Given the description of an element on the screen output the (x, y) to click on. 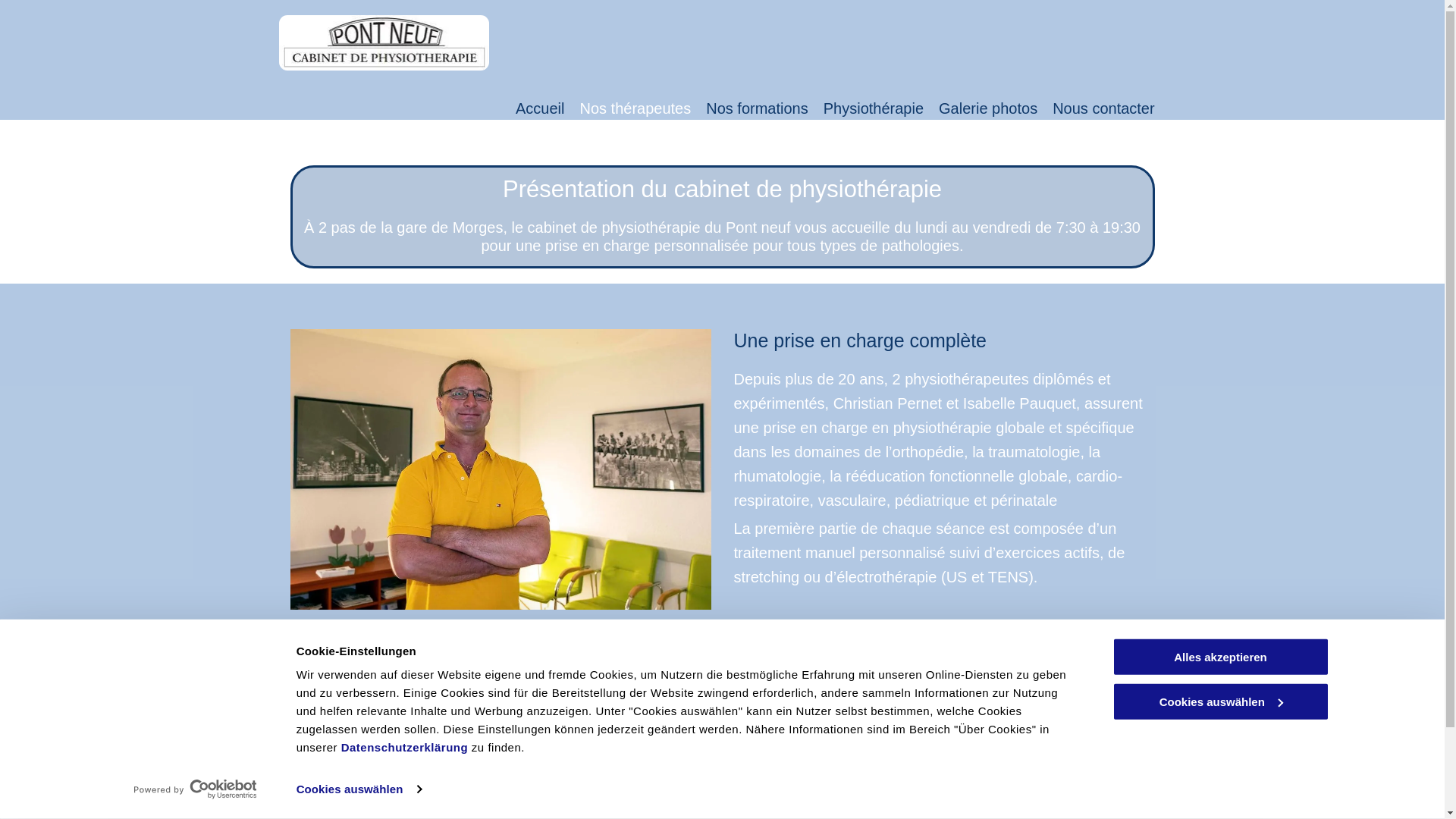
GRSA Element type: text (822, 757)
Accueil Element type: text (539, 108)
Nos formations Element type: text (757, 108)
ch.pernet@bluewin.ch Element type: text (637, 791)
021 802 23 24 Element type: text (619, 757)
Galerie photos Element type: text (987, 108)
Nous contacter Element type: text (1103, 108)
Alles akzeptieren Element type: text (1219, 656)
